Given the description of an element on the screen output the (x, y) to click on. 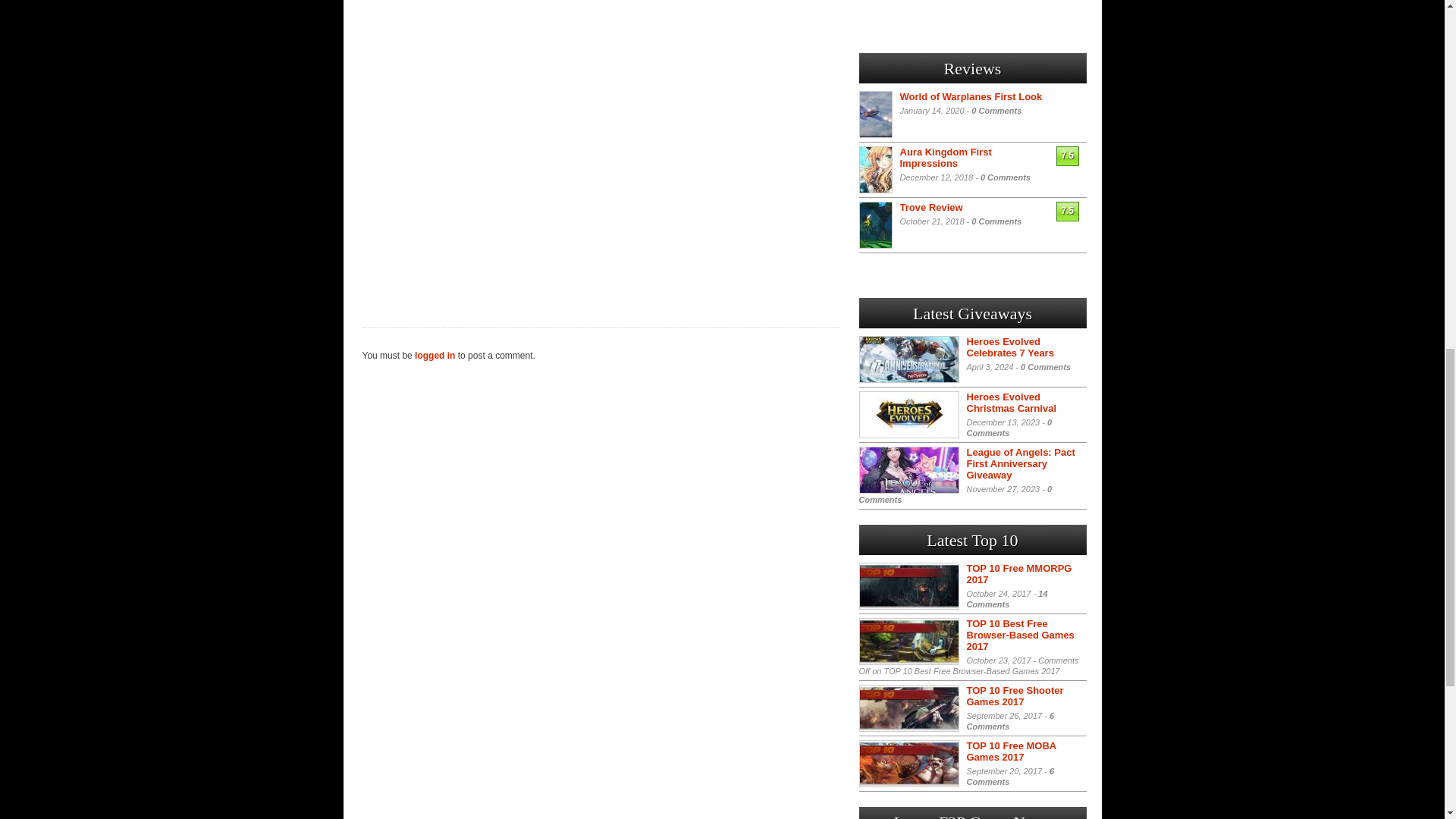
logged in (434, 355)
Aura Kingdom First Impressions (945, 157)
World of Warplanes First Look (970, 96)
Advertisement (600, 134)
